Given the description of an element on the screen output the (x, y) to click on. 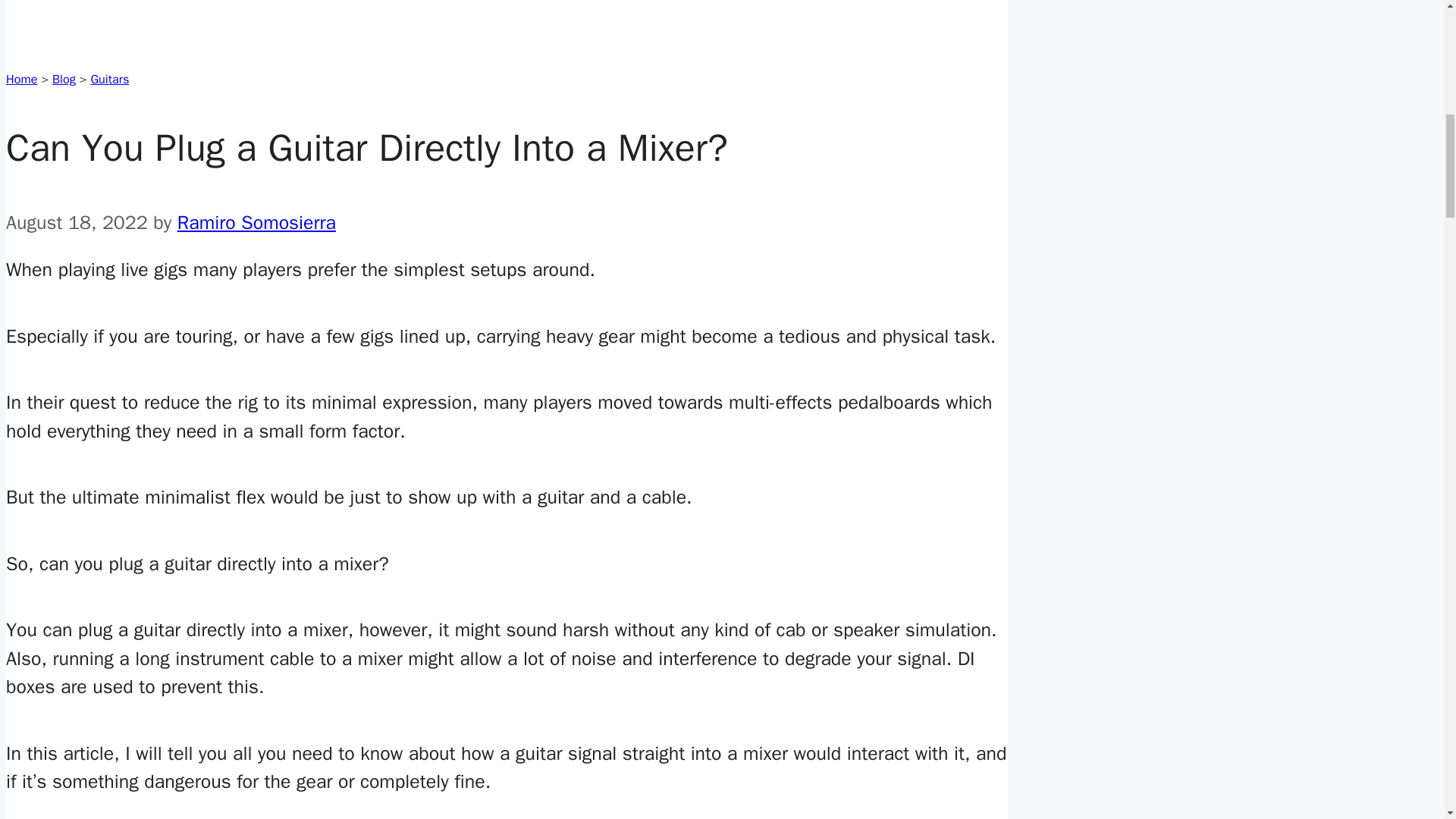
Ramiro Somosierra (256, 222)
View all posts by Ramiro Somosierra (256, 222)
Home (21, 78)
Blog (63, 78)
Guitars (109, 78)
